Given the description of an element on the screen output the (x, y) to click on. 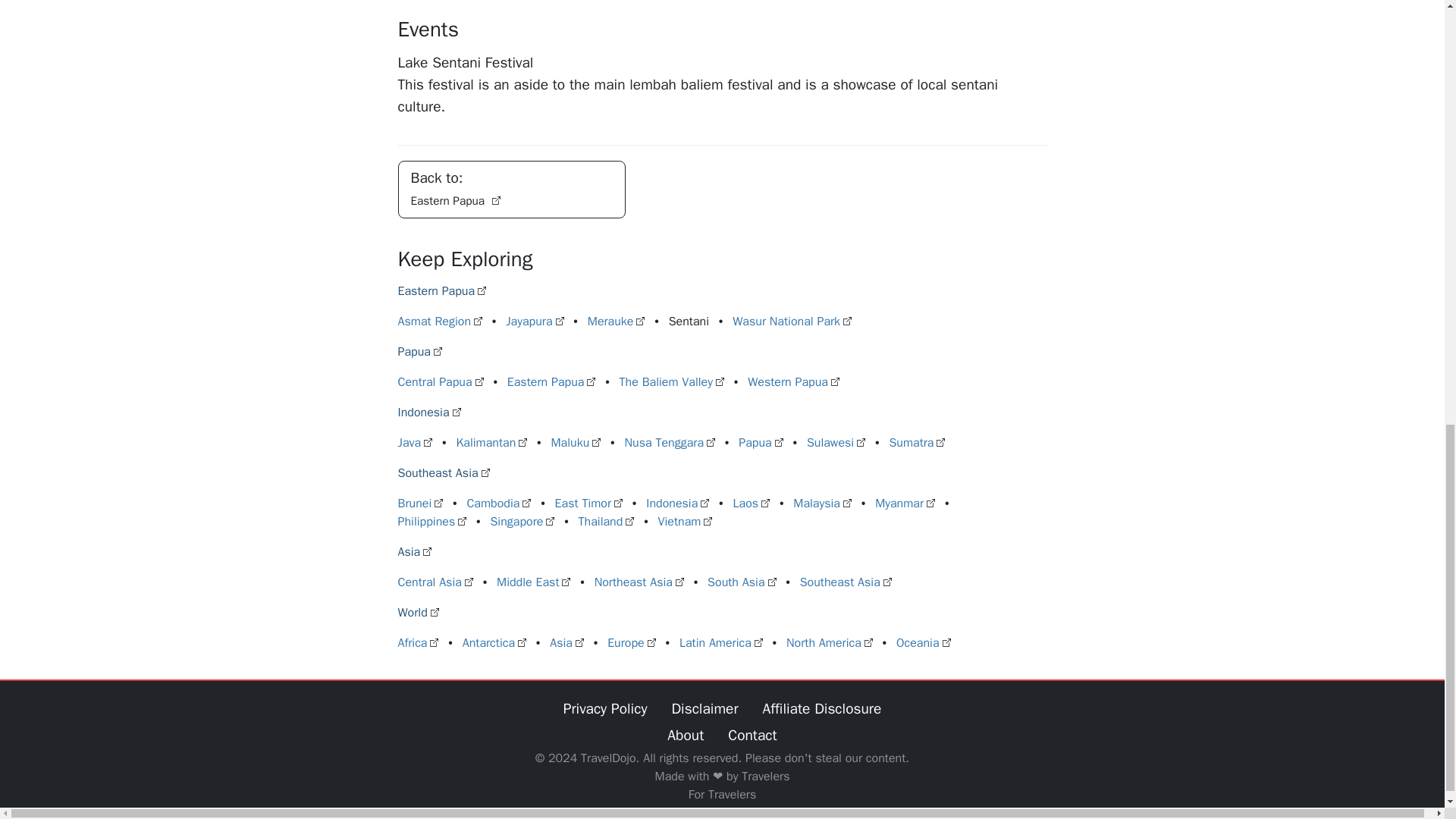
Eastern Papua (550, 381)
Kalimantan (491, 442)
Jayapura (534, 321)
Indonesia (428, 412)
Maluku (574, 442)
Papua (419, 351)
Merauke (616, 321)
Wasur National Park (791, 321)
Asmat Region (439, 321)
Nusa Tenggara (670, 442)
